Given the description of an element on the screen output the (x, y) to click on. 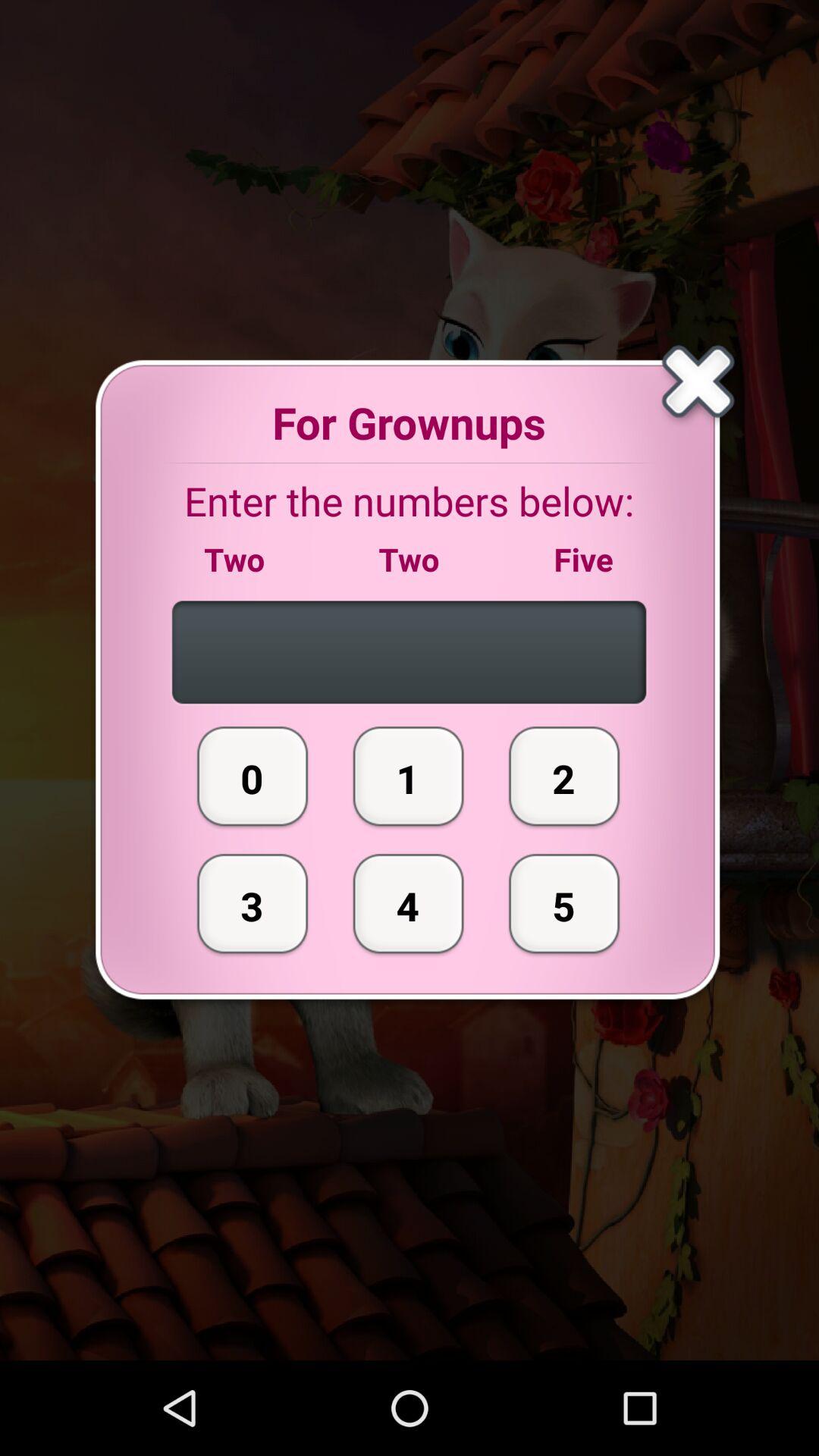
jump until the 1 item (408, 776)
